Given the description of an element on the screen output the (x, y) to click on. 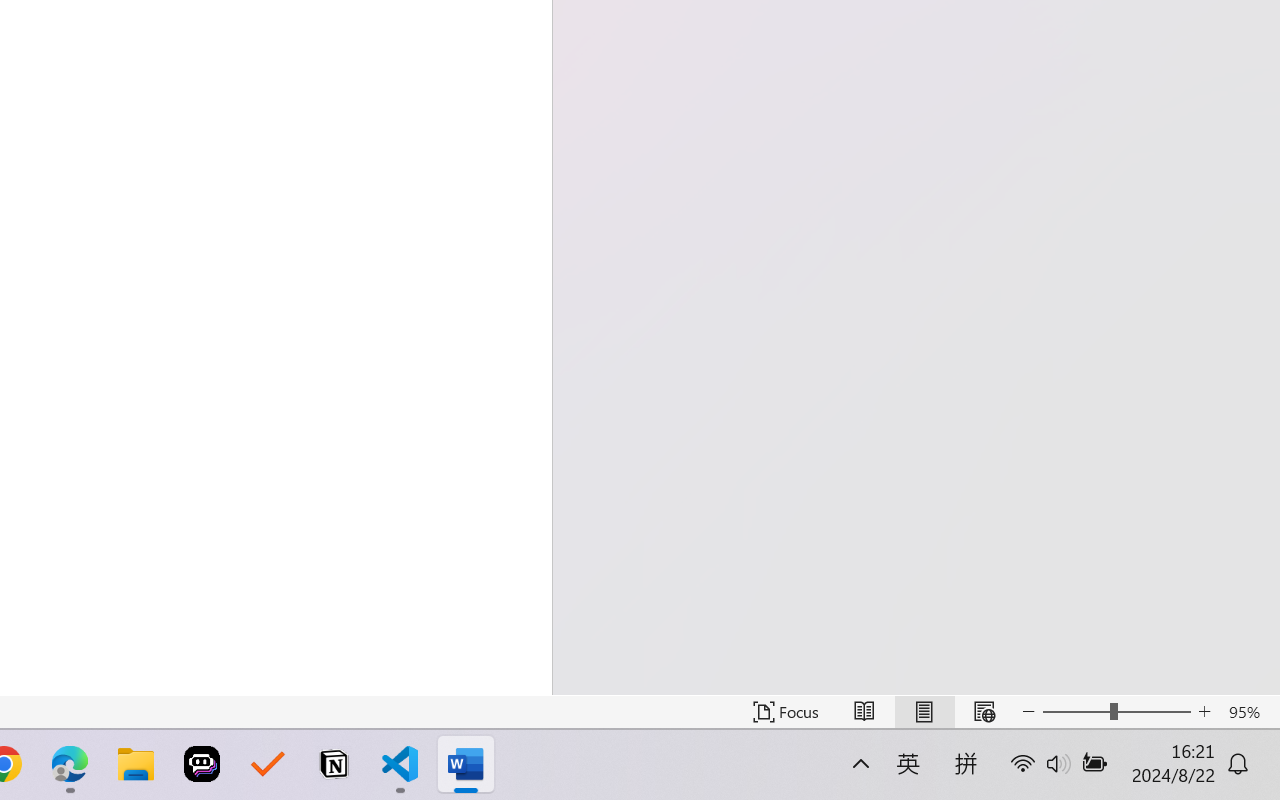
Zoom 95% (1249, 712)
